Given the description of an element on the screen output the (x, y) to click on. 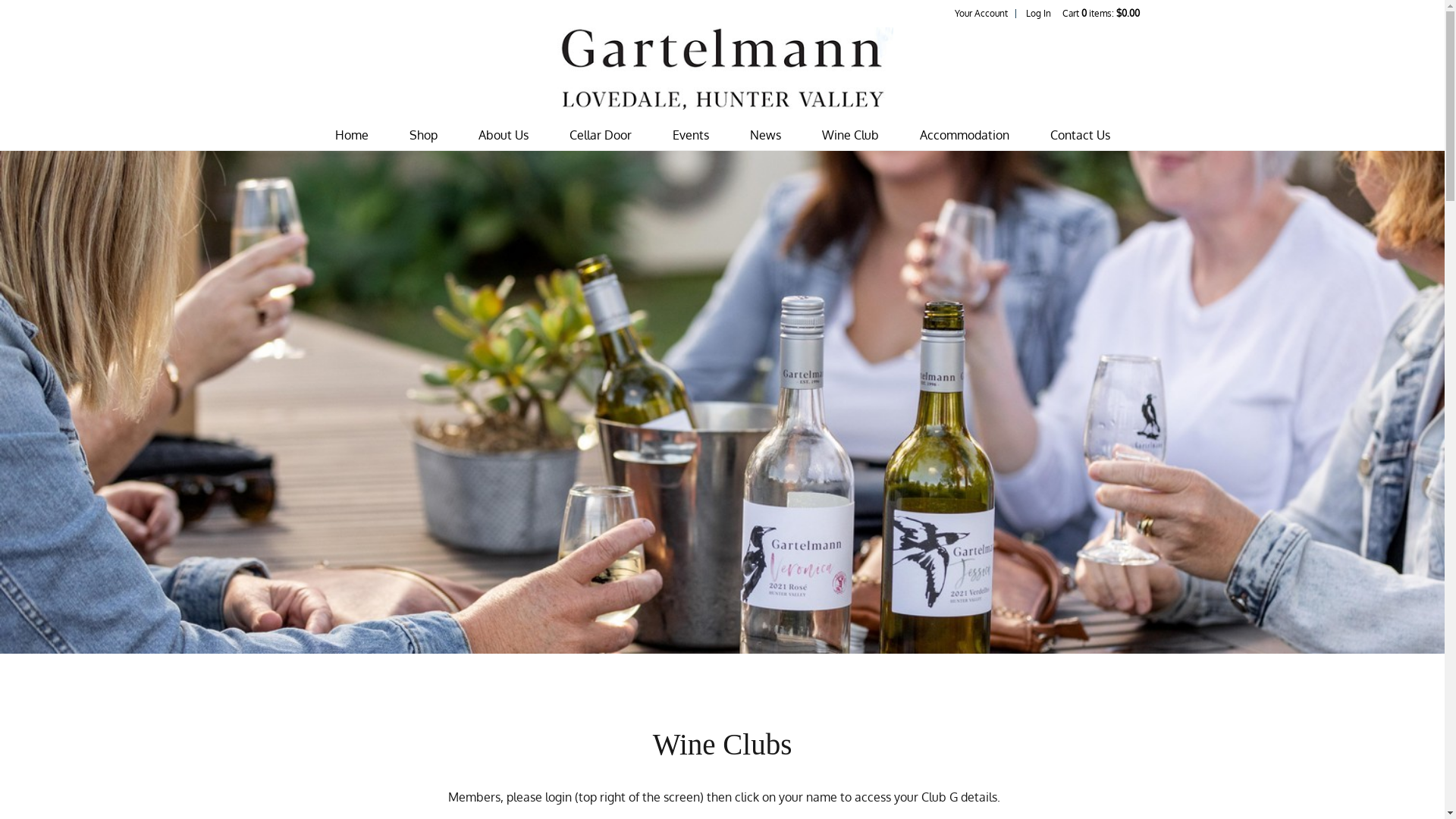
Accommodation Element type: text (963, 135)
News Element type: text (764, 135)
Log In Element type: text (1037, 12)
Cart 0 items: $0.00 Element type: text (1100, 12)
Home Element type: text (351, 135)
Your Account Element type: text (980, 12)
Wine Club Element type: text (850, 135)
About Us Element type: text (502, 135)
Shop Element type: text (423, 135)
Cellar Door Element type: text (599, 135)
Contact Us Element type: text (1079, 135)
Events Element type: text (689, 135)
